Given the description of an element on the screen output the (x, y) to click on. 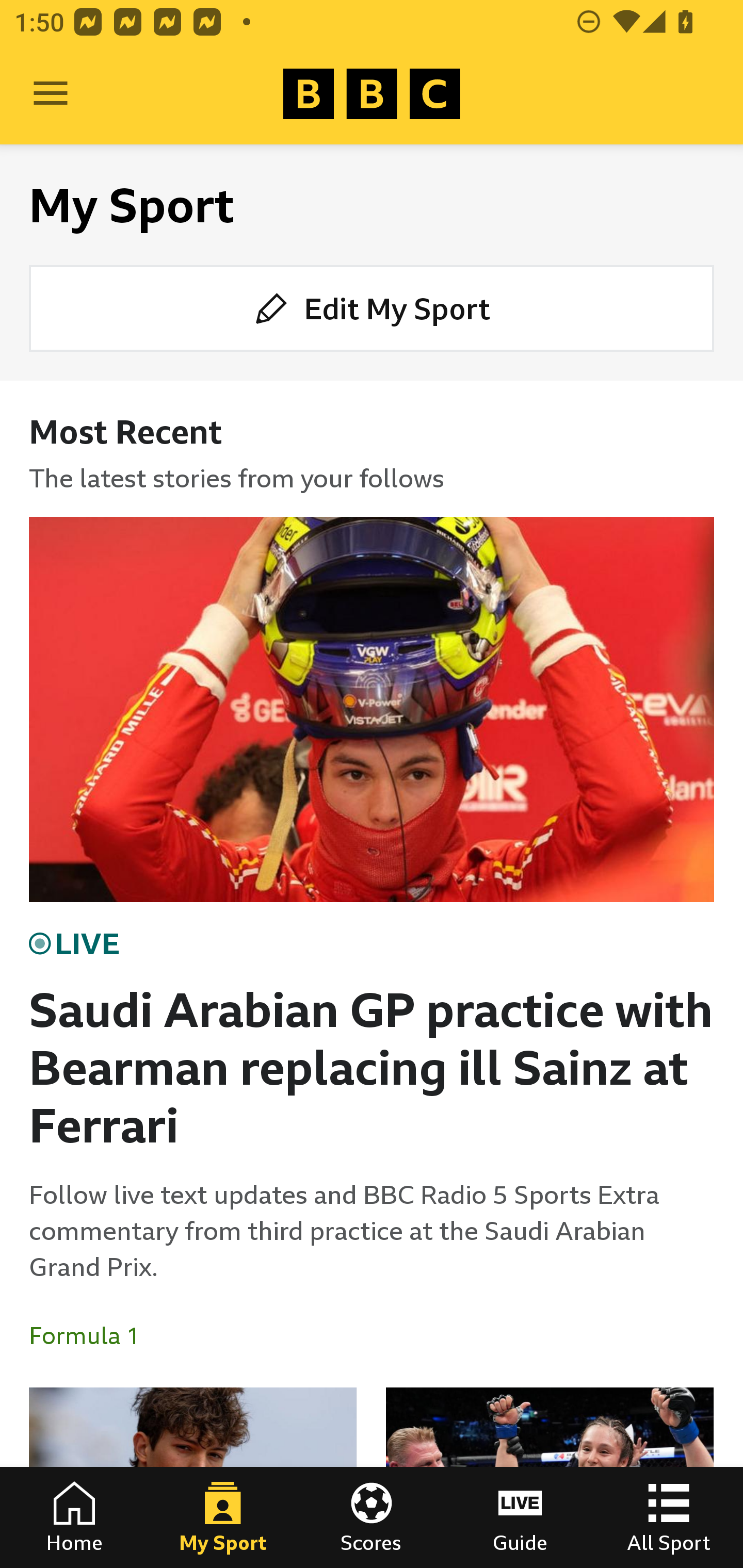
Open Menu (50, 93)
Edit My Sport (371, 307)
Home (74, 1517)
Scores (371, 1517)
Guide (519, 1517)
All Sport (668, 1517)
